Given the description of an element on the screen output the (x, y) to click on. 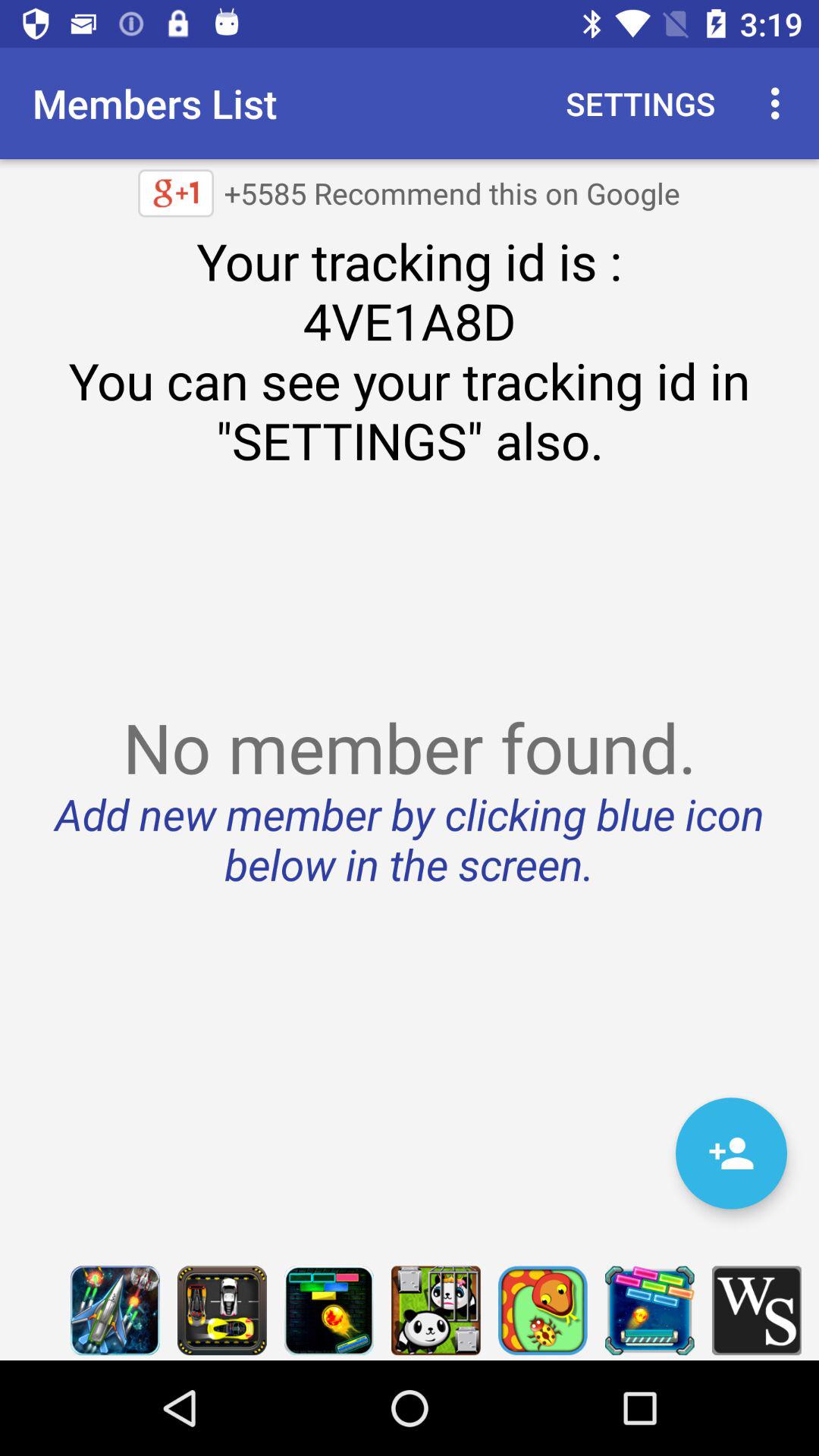
select puzzle game (328, 1310)
